Given the description of an element on the screen output the (x, y) to click on. 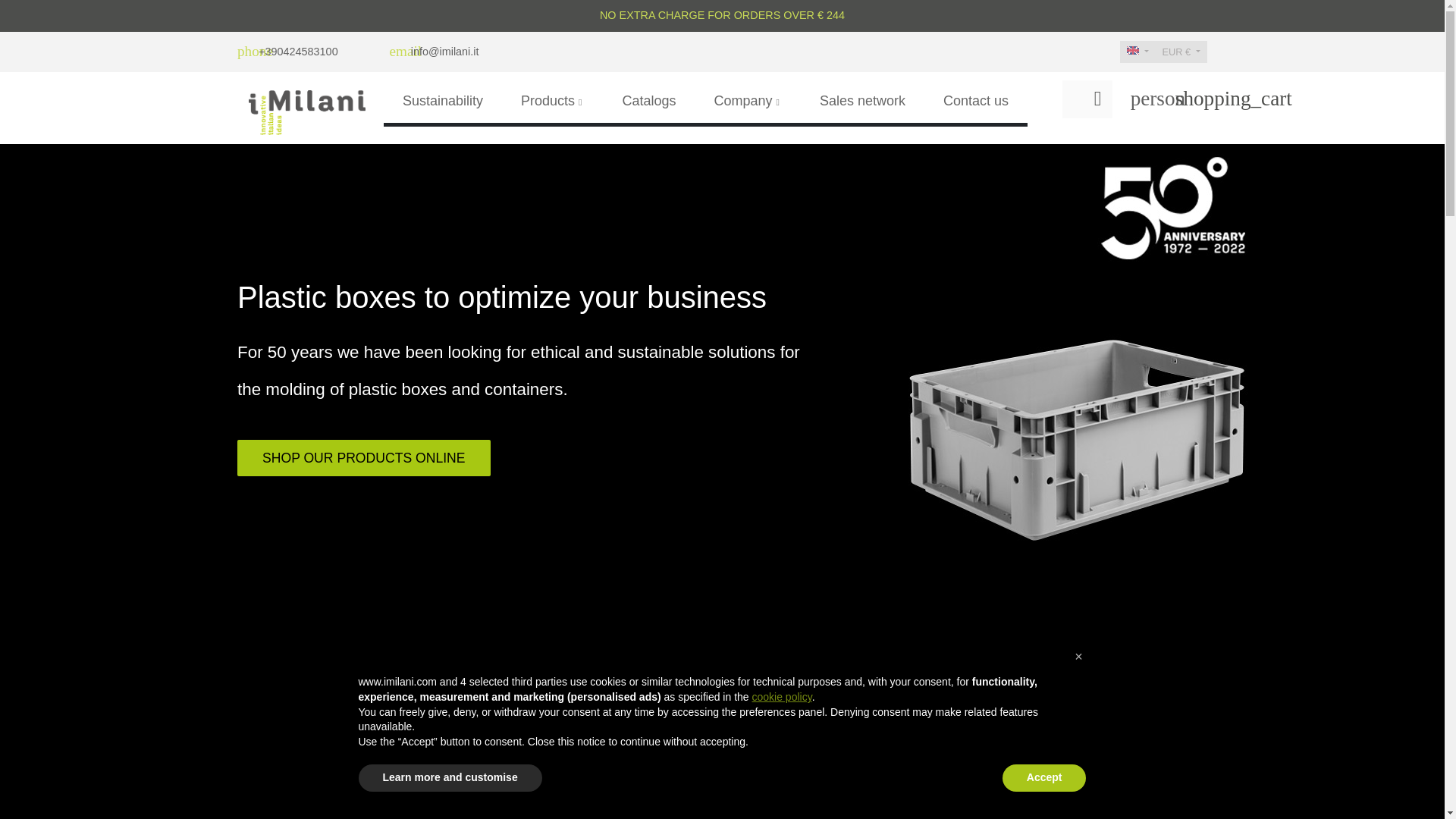
Company (747, 100)
Log in to your customer account (1141, 98)
Products (552, 100)
Catalogs (648, 100)
English (1132, 49)
Sustainability (442, 100)
